Given the description of an element on the screen output the (x, y) to click on. 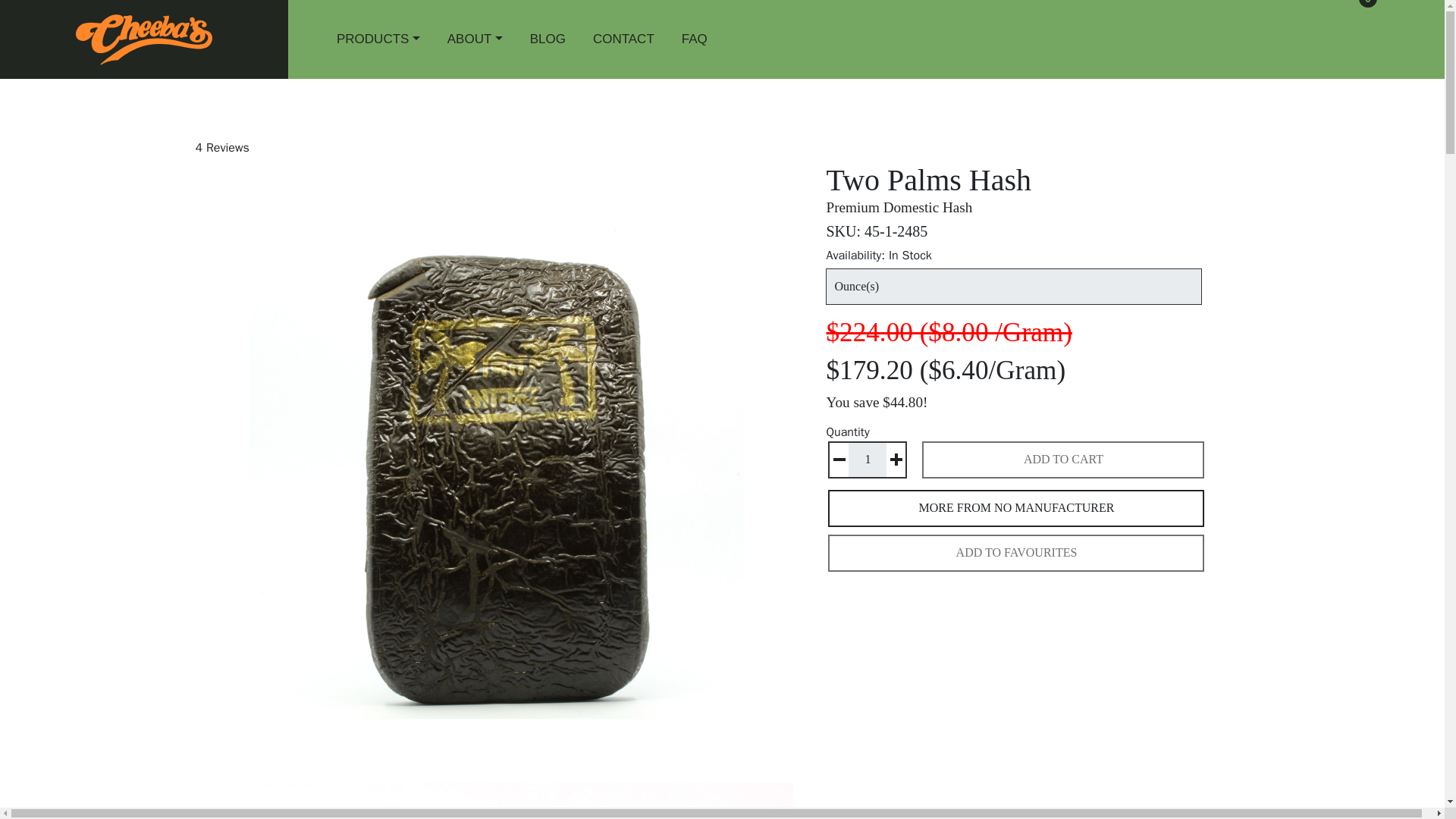
CONTACT (623, 39)
BLOG (548, 39)
ABOUT (474, 39)
1 (867, 459)
0 (1348, 36)
Add to Cart (1062, 459)
Two Palms Hash (512, 773)
Account (1384, 27)
PRODUCTS (378, 39)
FAQ (694, 39)
